Given the description of an element on the screen output the (x, y) to click on. 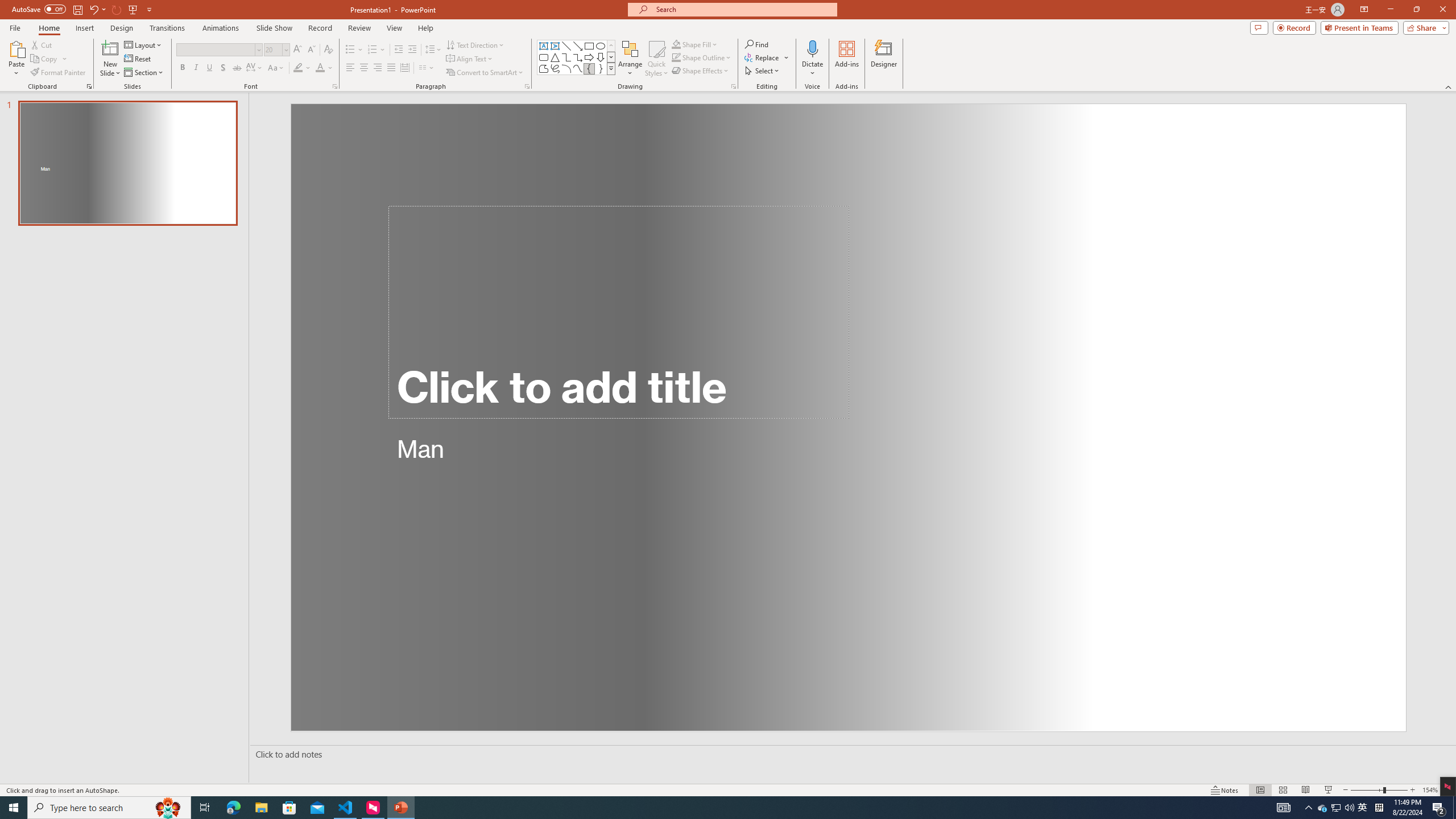
Distributed (404, 67)
Rectangle: Rounded Corners (543, 57)
Columns (426, 67)
Paragraph... (526, 85)
Align Text (470, 58)
Character Spacing (254, 67)
Arrow: Down (600, 57)
